Given the description of an element on the screen output the (x, y) to click on. 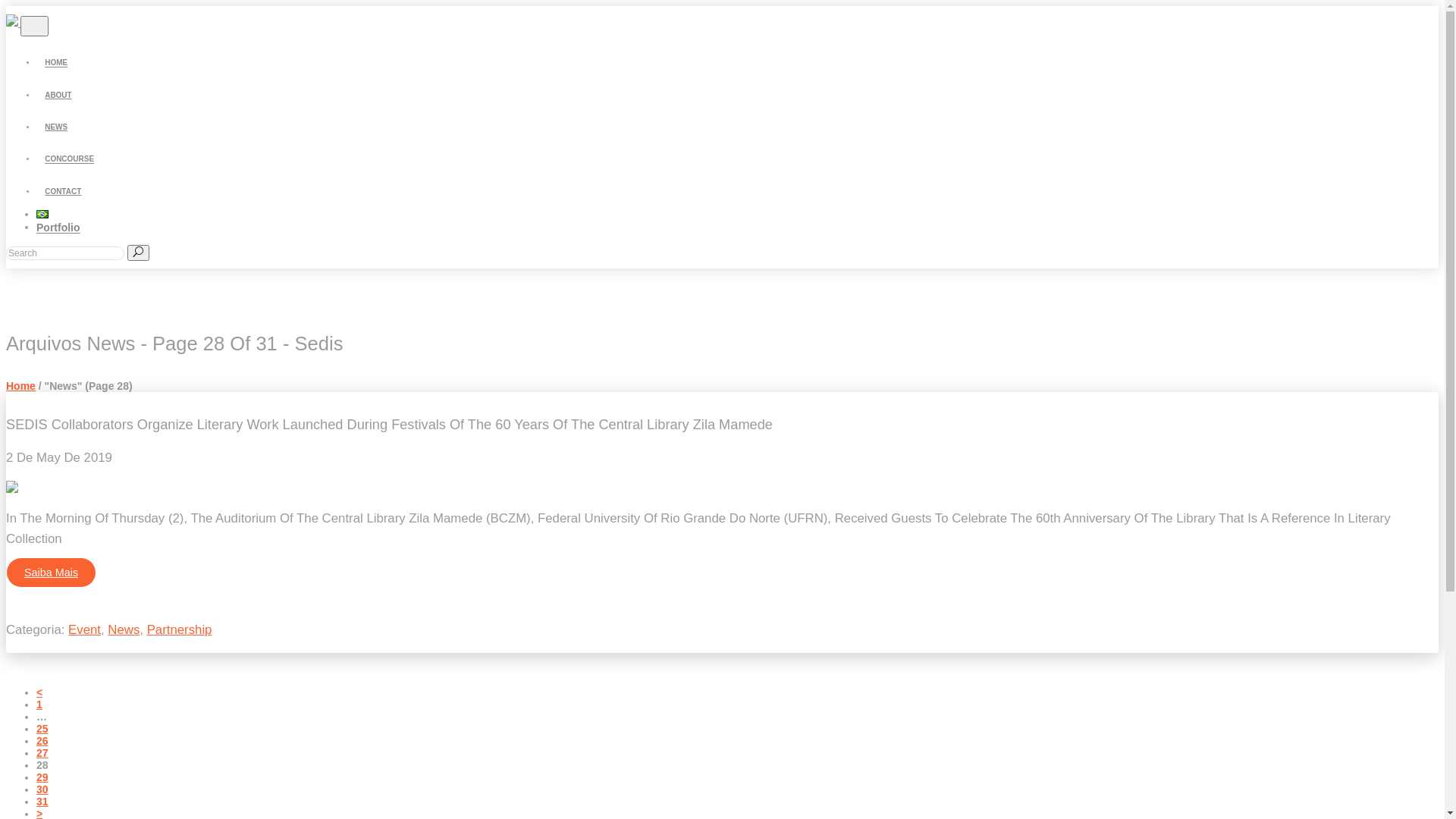
ABOUT Element type: text (58, 95)
Portfolio Element type: text (58, 228)
1 Element type: text (39, 704)
30 Element type: text (42, 789)
CONTACT Element type: text (62, 191)
CONCOURSE Element type: text (69, 159)
Event Element type: text (84, 629)
Saiba Mais Element type: text (50, 572)
31 Element type: text (42, 801)
26 Element type: text (42, 740)
Home Element type: text (20, 385)
25 Element type: text (42, 728)
NEWS Element type: text (55, 126)
29 Element type: text (42, 777)
Partnership Element type: text (179, 629)
News Element type: text (123, 629)
< Element type: text (39, 692)
HOME Element type: text (55, 63)
27 Element type: text (42, 752)
Pesquisa Element type: hover (65, 253)
